Given the description of an element on the screen output the (x, y) to click on. 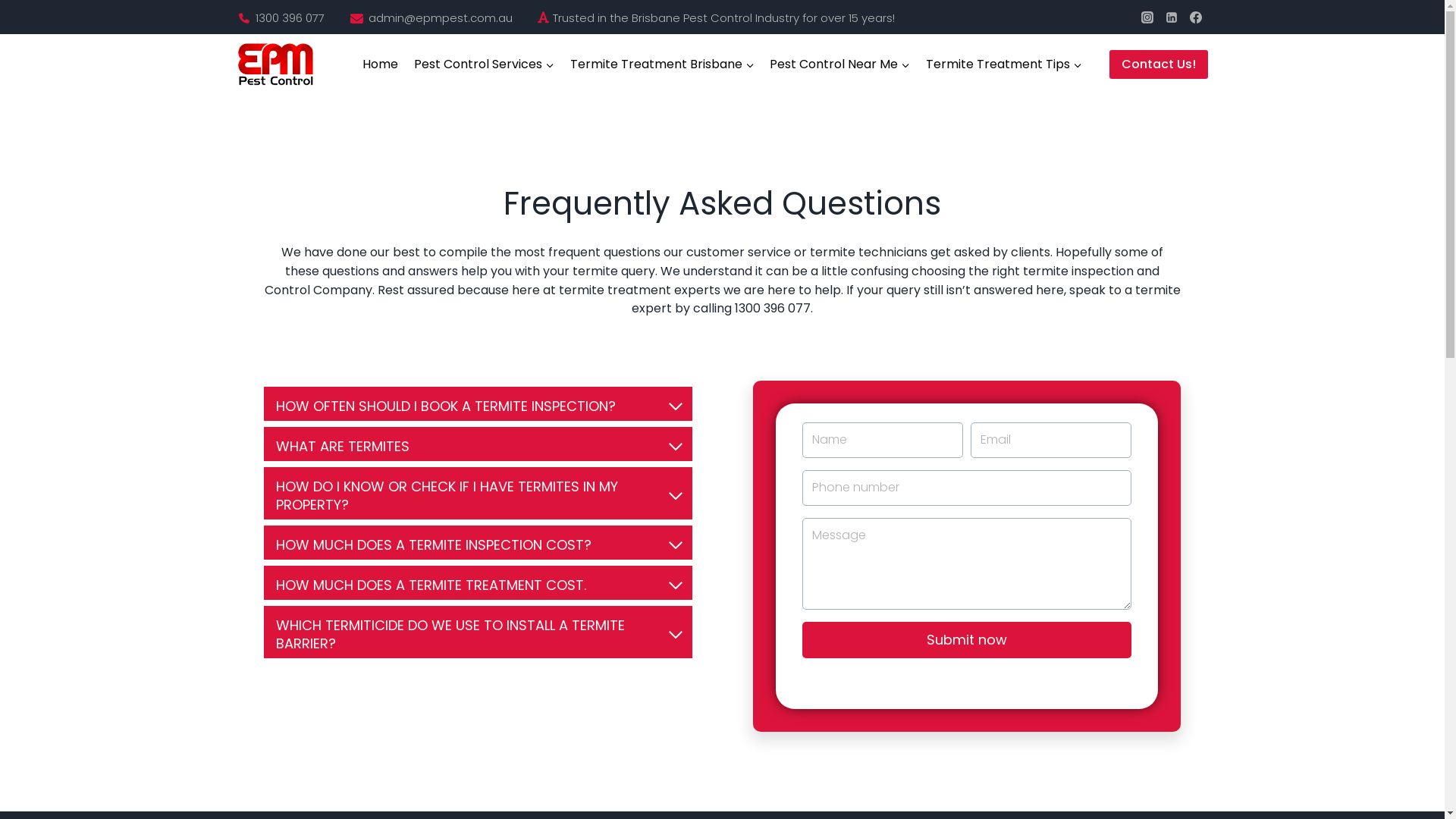
Home Element type: text (380, 64)
Pest Control Services Element type: text (483, 64)
Termite Treatment Brisbane Element type: text (661, 64)
WHICH TERMITICIDE DO WE USE TO INSTALL A TERMITE BARRIER? Element type: text (477, 631)
WHAT ARE TERMITES Element type: text (477, 443)
Pest Control Near Me Element type: text (840, 64)
Termite Treatment Tips Element type: text (1004, 64)
HOW DO I KNOW OR CHECK IF I HAVE TERMITES IN MY PROPERTY? Element type: text (477, 493)
HOW OFTEN SHOULD I BOOK A TERMITE INSPECTION? Element type: text (477, 403)
HOW MUCH DOES A TERMITE TREATMENT COST. Element type: text (477, 582)
Contact Us! Element type: text (1157, 64)
HOW MUCH DOES A TERMITE INSPECTION COST? Element type: text (477, 542)
admin@epmpest.com.au Element type: text (440, 17)
1300 396 077 Element type: text (288, 17)
Submit now Element type: text (967, 639)
